Given the description of an element on the screen output the (x, y) to click on. 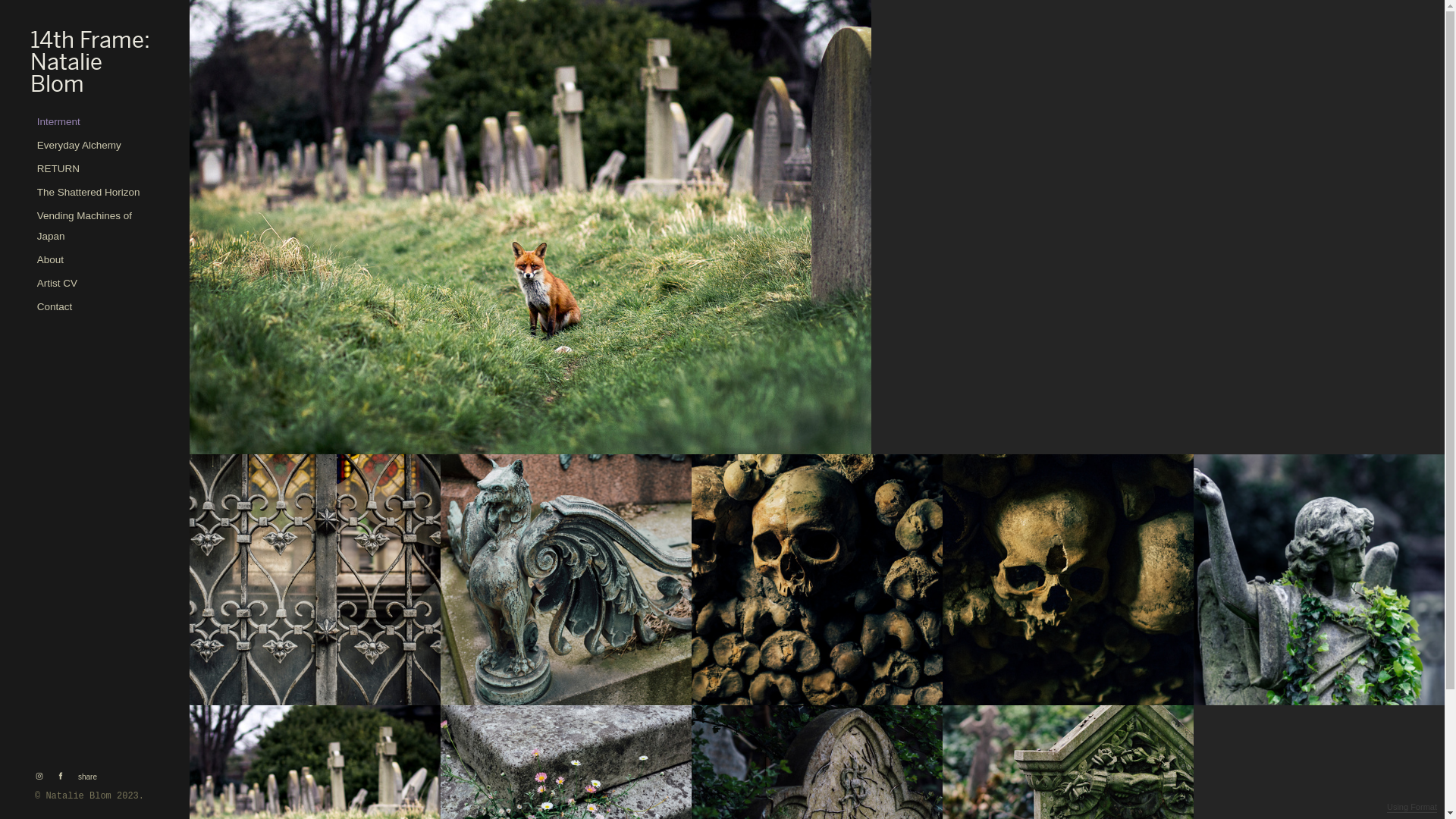
Artist CV Element type: text (56, 283)
The Shattered Horizon Element type: text (87, 192)
Everyday Alchemy Element type: text (78, 144)
Contact Element type: text (54, 306)
About Element type: text (50, 259)
Using Format Element type: text (1411, 807)
share Element type: text (84, 776)
Interment Element type: text (58, 121)
RETURN Element type: text (57, 168)
Vending Machines of Japan Element type: text (95, 225)
14th Frame:
Natalie Blom Element type: text (95, 61)
